Given the description of an element on the screen output the (x, y) to click on. 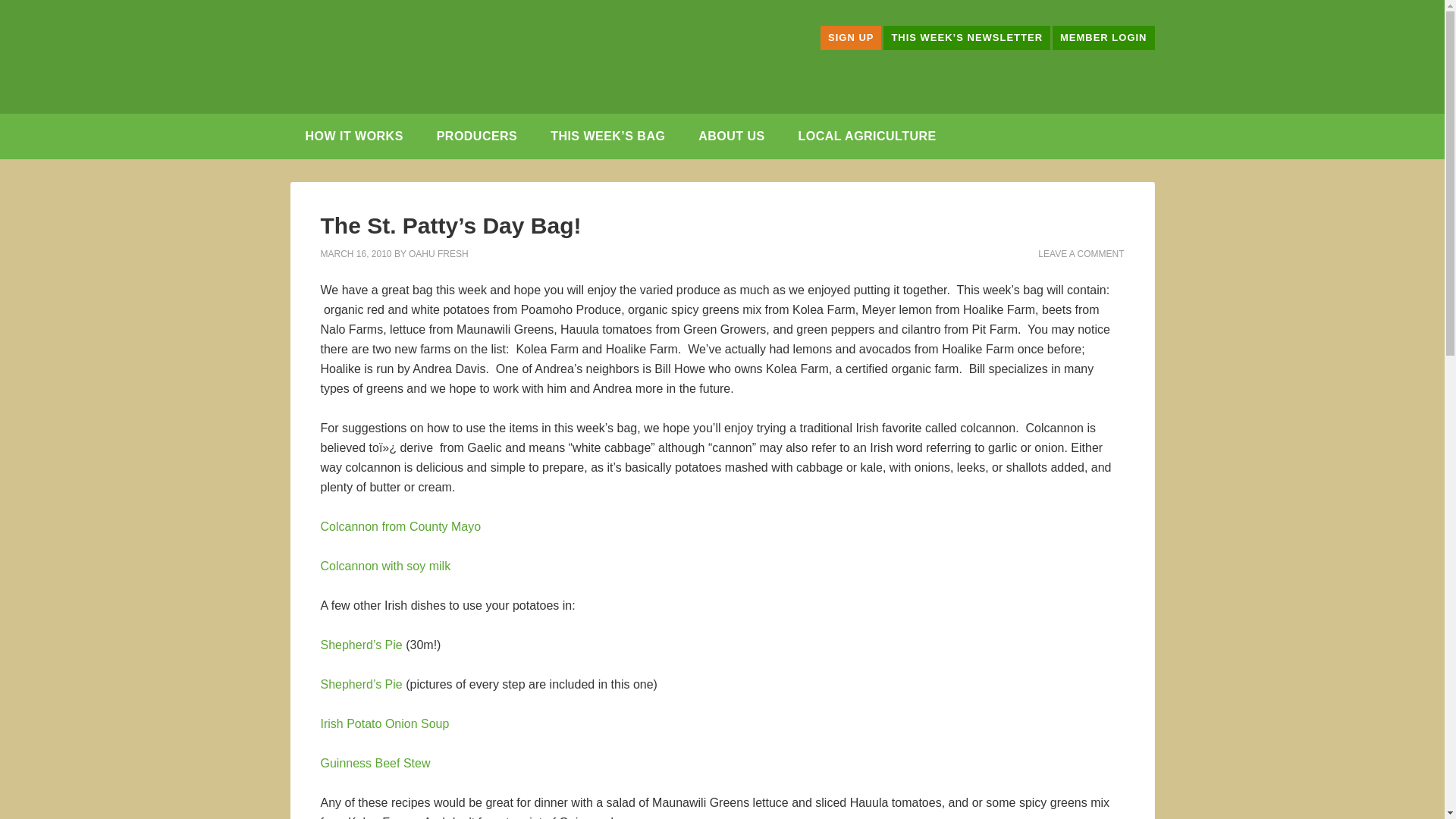
Colcannon with soy milk (384, 565)
Guinness Beef Stew (374, 762)
LEAVE A COMMENT (1081, 253)
Irish Potato Onion Soup (384, 723)
ABOUT US (730, 135)
HOW IT WORKS (353, 135)
SIGN UP (850, 37)
MEMBER LOGIN (1103, 37)
PRODUCERS (477, 135)
Colcannon from County Mayo (400, 526)
LOCAL AGRICULTURE (867, 135)
OAHU FRESH (438, 253)
